Given the description of an element on the screen output the (x, y) to click on. 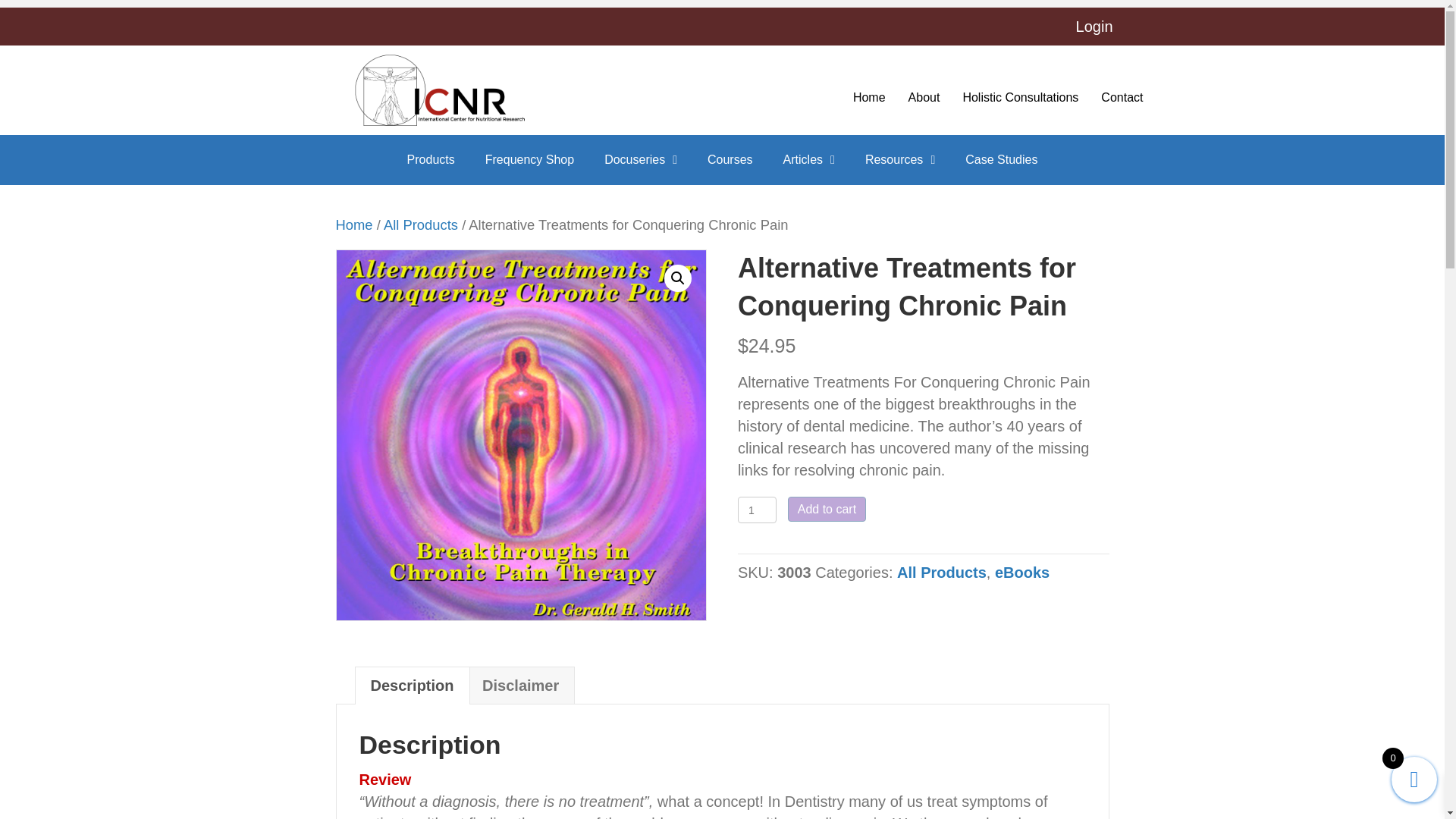
Frequency Shop (529, 159)
Courses (729, 159)
Home (869, 97)
Docuseries (640, 159)
Contact (1121, 97)
Logo ICNR (439, 90)
1 (757, 509)
About (924, 97)
Holistic Consultations (1020, 97)
Login (1094, 26)
Case Studies (1000, 159)
Products (430, 159)
Articles (808, 159)
Resources (899, 159)
